Given the description of an element on the screen output the (x, y) to click on. 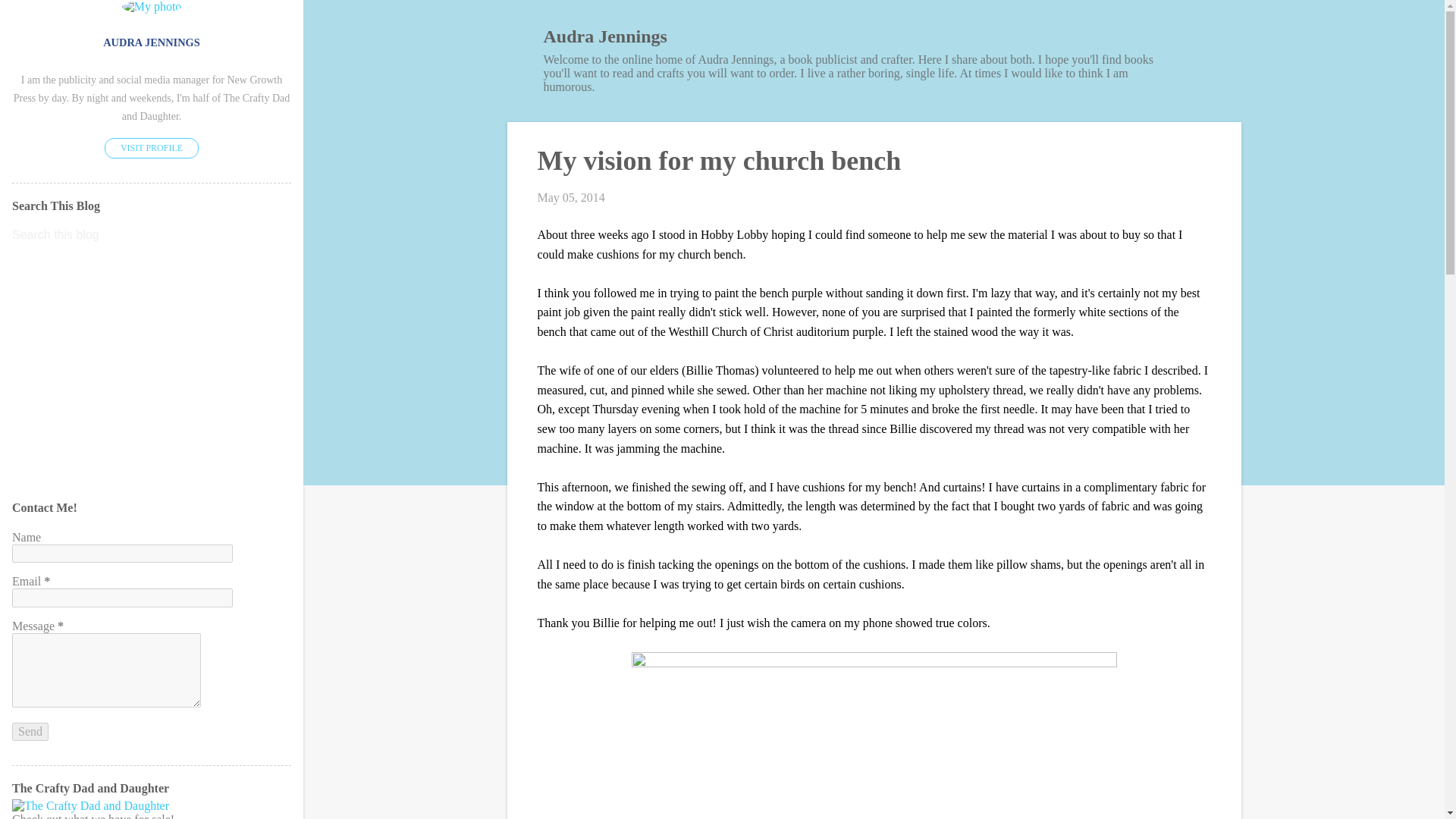
Search (31, 18)
May 05, 2014 (570, 196)
AUDRA JENNINGS (151, 42)
permanent link (570, 196)
Audra Jennings (604, 35)
VISIT PROFILE (151, 148)
Send (29, 731)
